Given the description of an element on the screen output the (x, y) to click on. 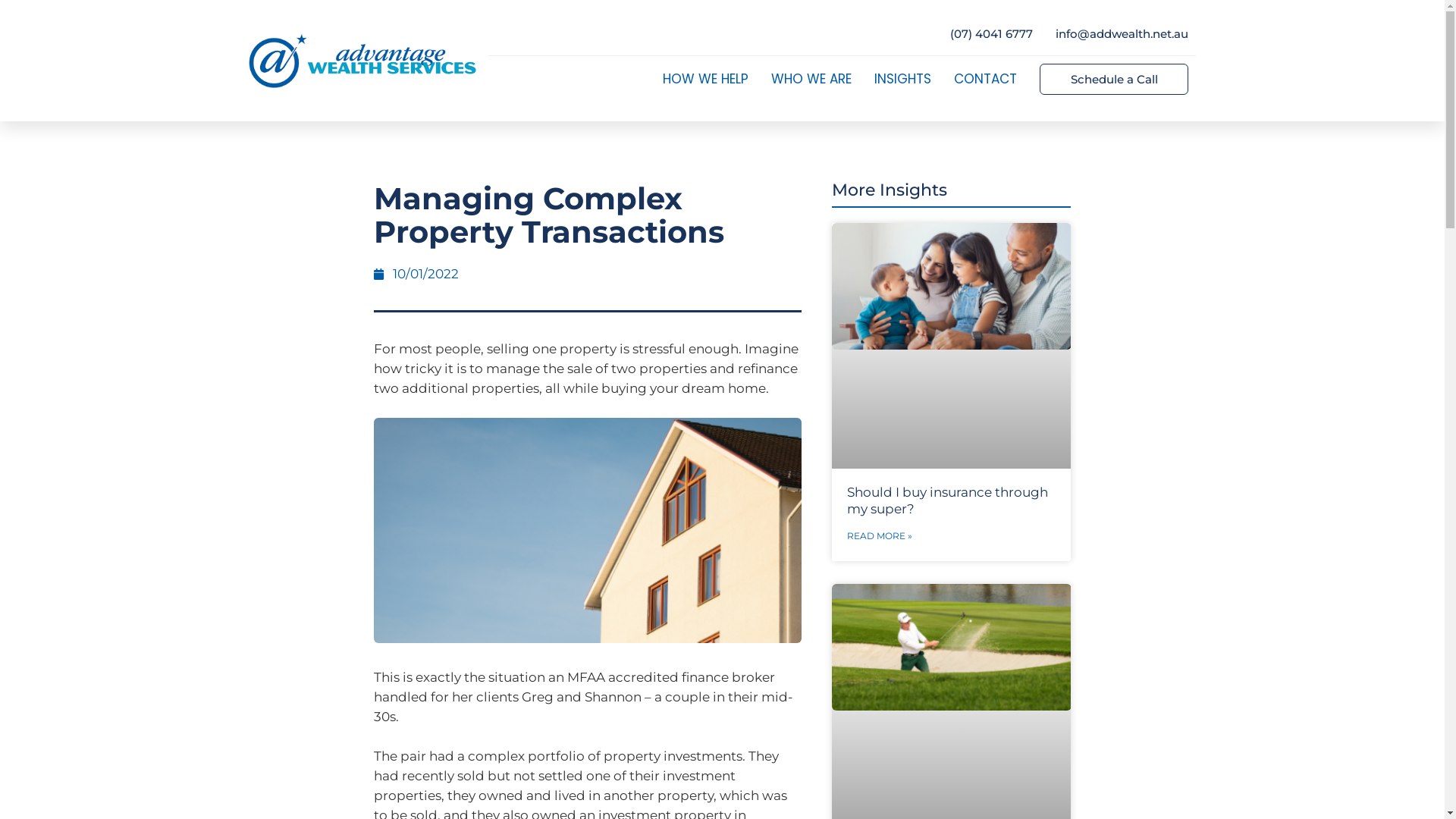
CONTACT Element type: text (985, 78)
INSIGHTS Element type: text (902, 78)
Should I buy insurance through my super? Element type: text (947, 500)
Schedule a Call Element type: text (1113, 78)
info@addwealth.net.au Element type: text (1121, 33)
WHO WE ARE Element type: text (811, 78)
HOW WE HELP Element type: text (705, 78)
(07) 4041 6777 Element type: text (991, 33)
